Given the description of an element on the screen output the (x, y) to click on. 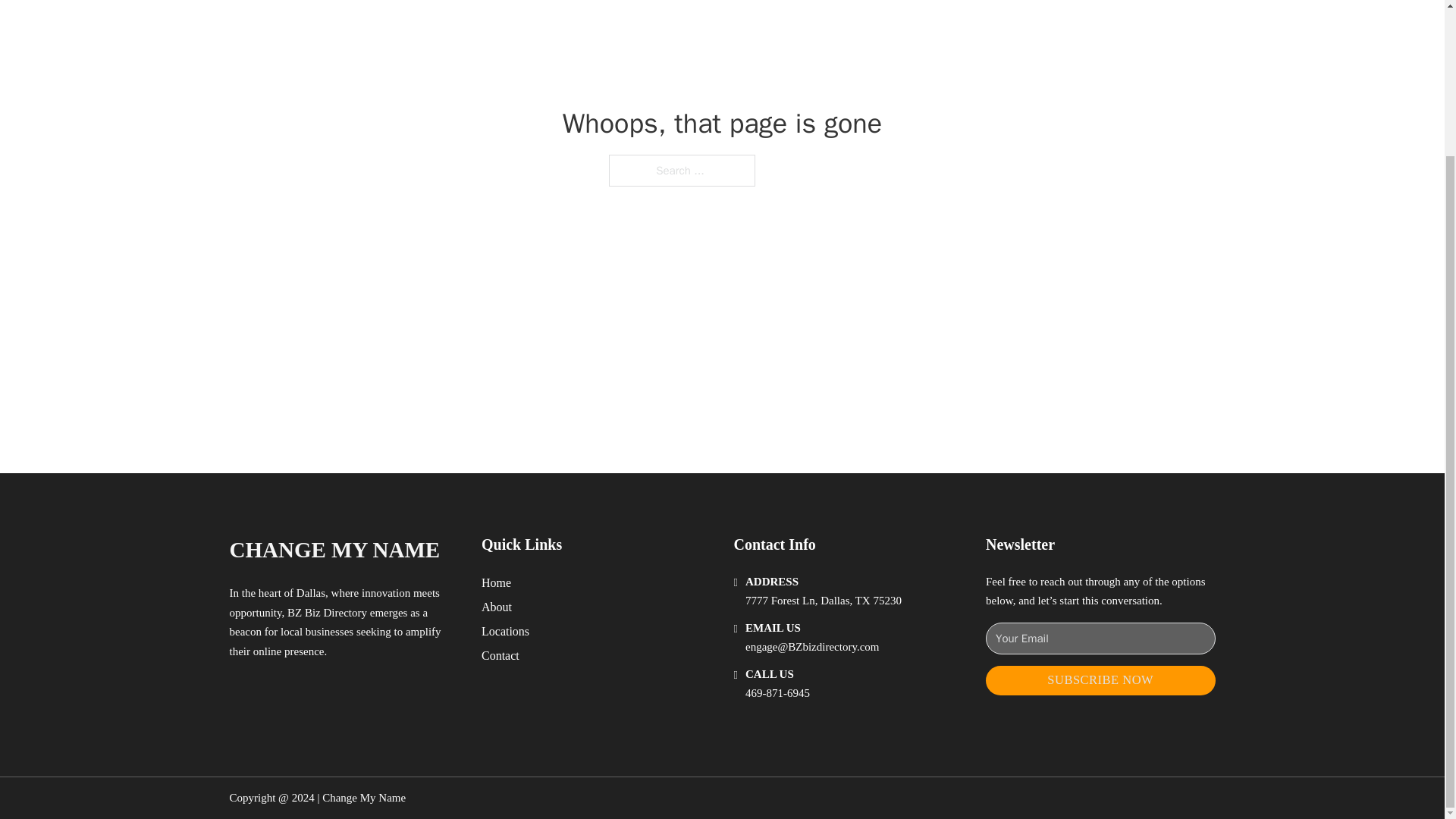
469-871-6945 (777, 693)
CHANGE MY NAME (333, 549)
About (496, 607)
SUBSCRIBE NOW (1100, 680)
Locations (505, 630)
Contact (500, 655)
Home (496, 582)
